Given the description of an element on the screen output the (x, y) to click on. 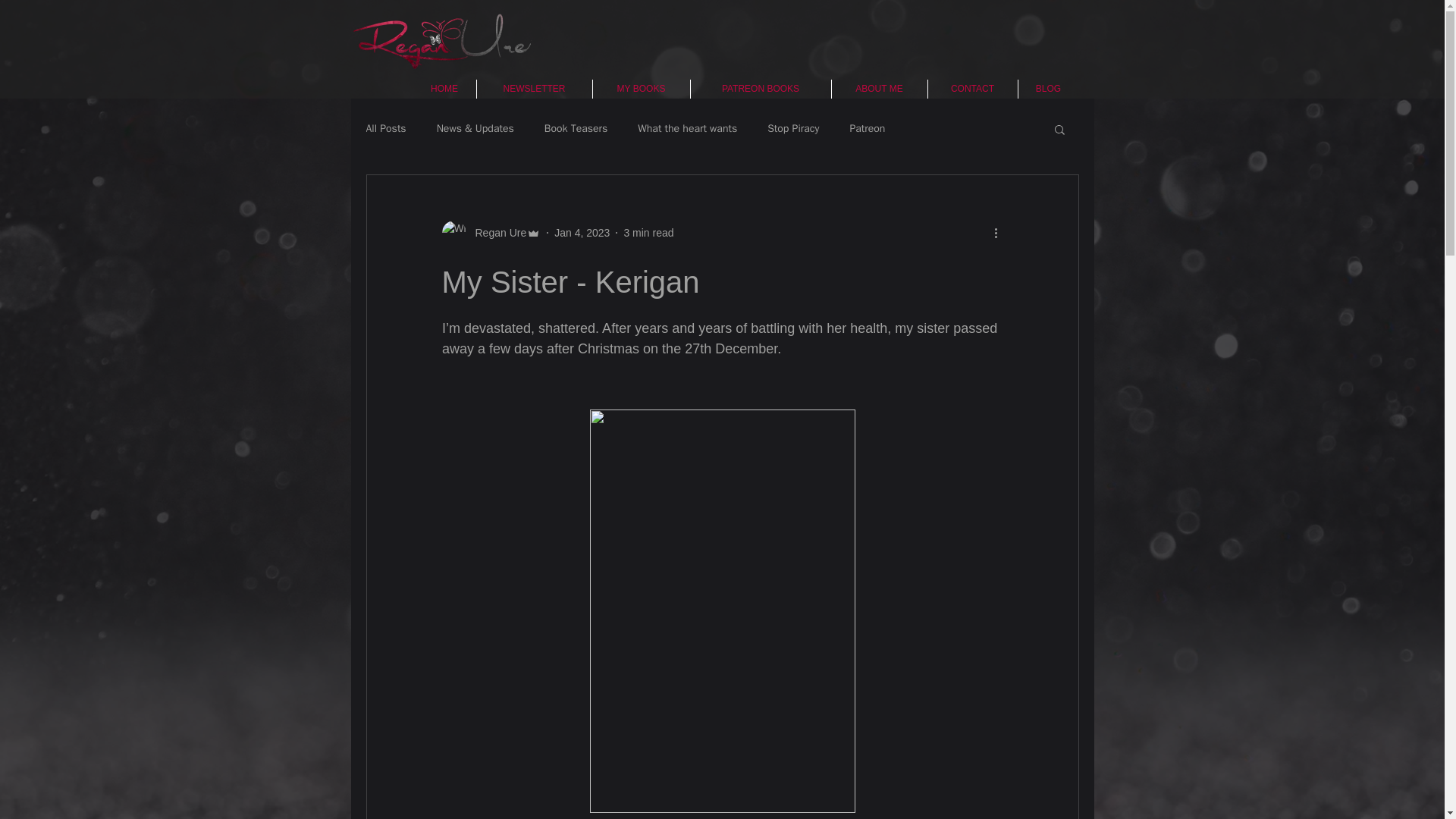
3 min read (647, 232)
PATREON BOOKS (759, 88)
MY BOOKS (641, 88)
CONTACT (972, 88)
ABOUT ME (878, 88)
Regan Ure (495, 232)
Jan 4, 2023 (582, 232)
NEWSLETTER (533, 88)
All Posts (385, 128)
BLOG (1047, 88)
